Given the description of an element on the screen output the (x, y) to click on. 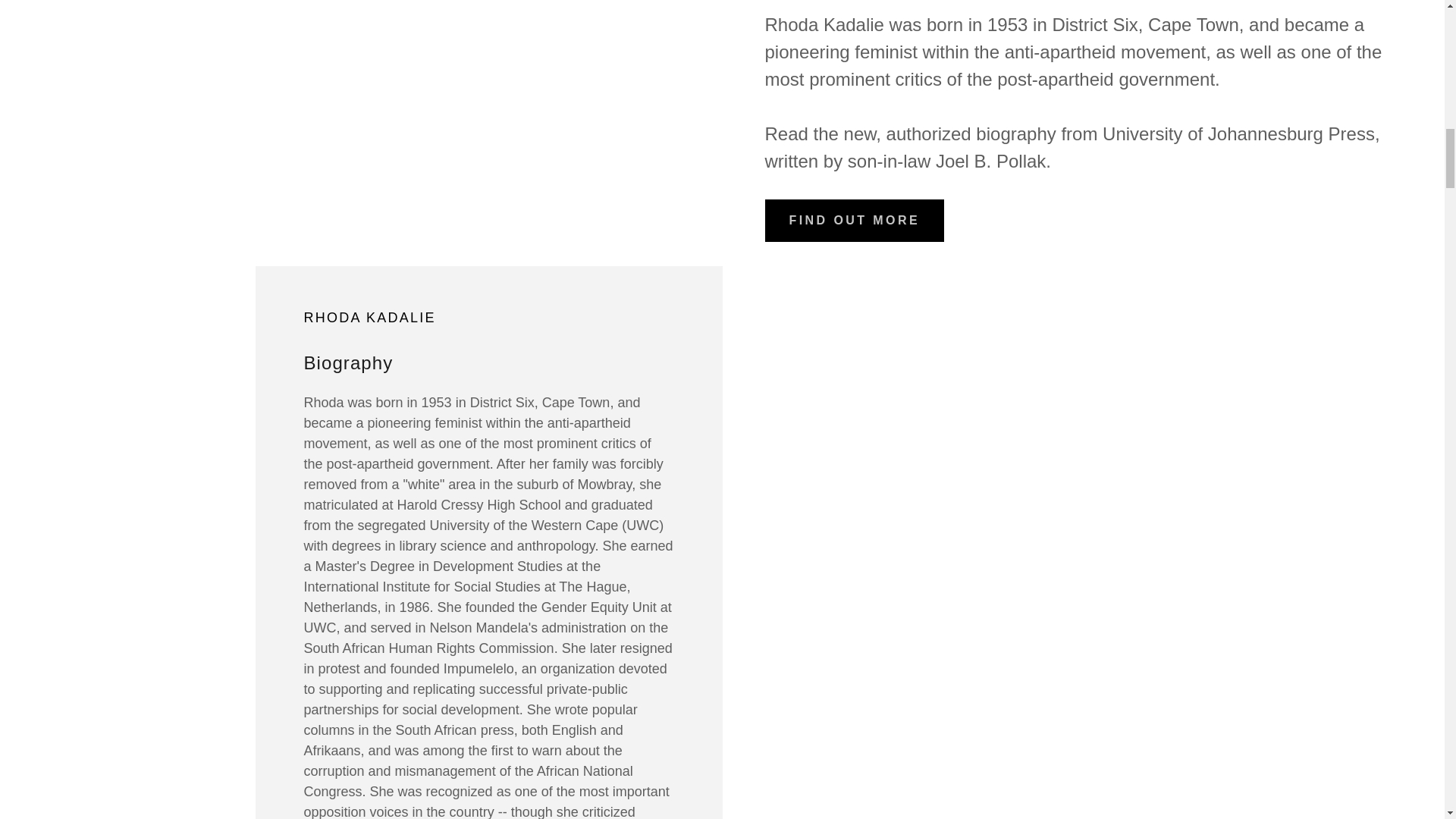
FIND OUT MORE (853, 220)
